Given the description of an element on the screen output the (x, y) to click on. 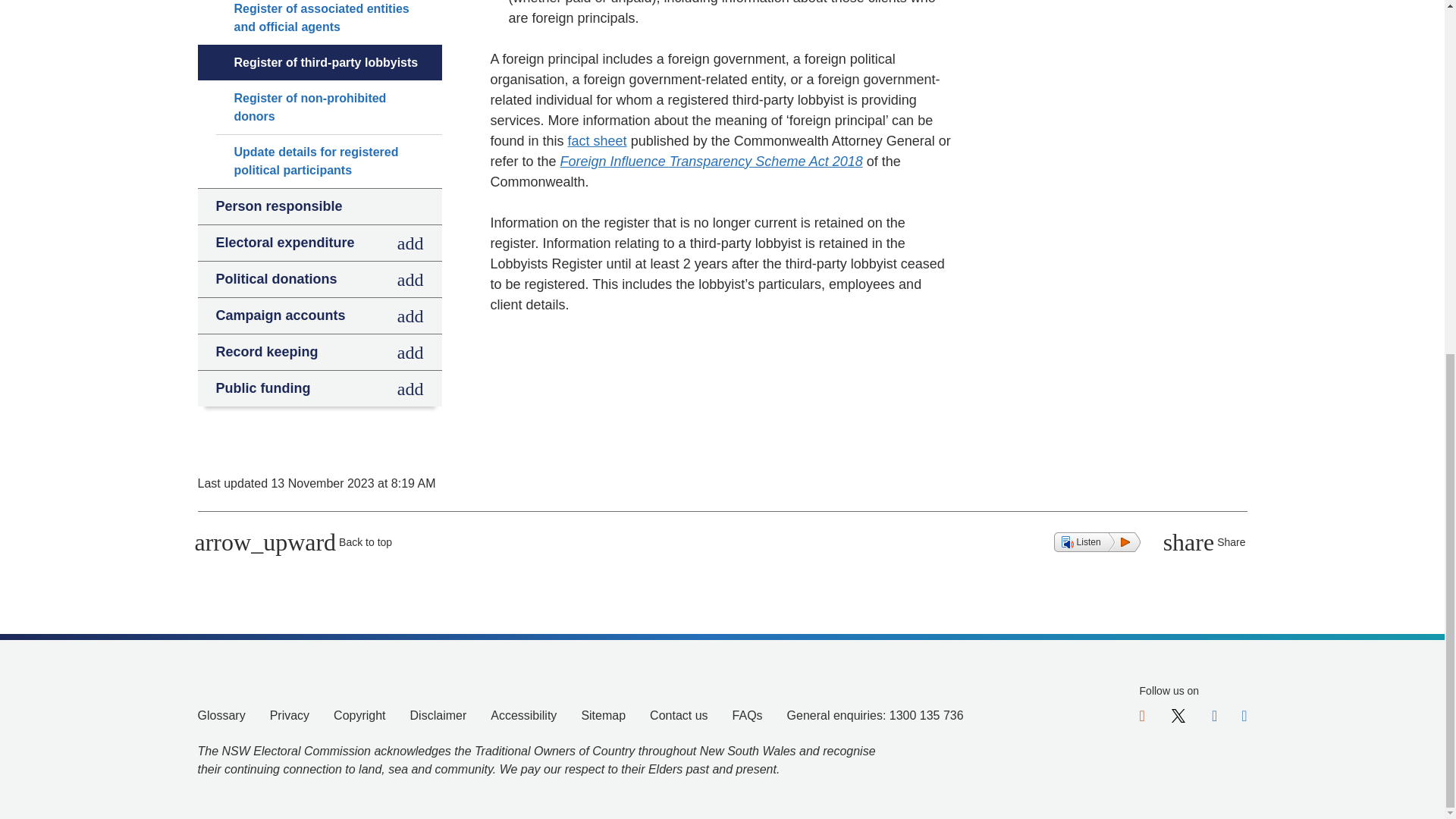
Listen to this page using ReadSpeaker (1097, 542)
X (1178, 713)
